Given the description of an element on the screen output the (x, y) to click on. 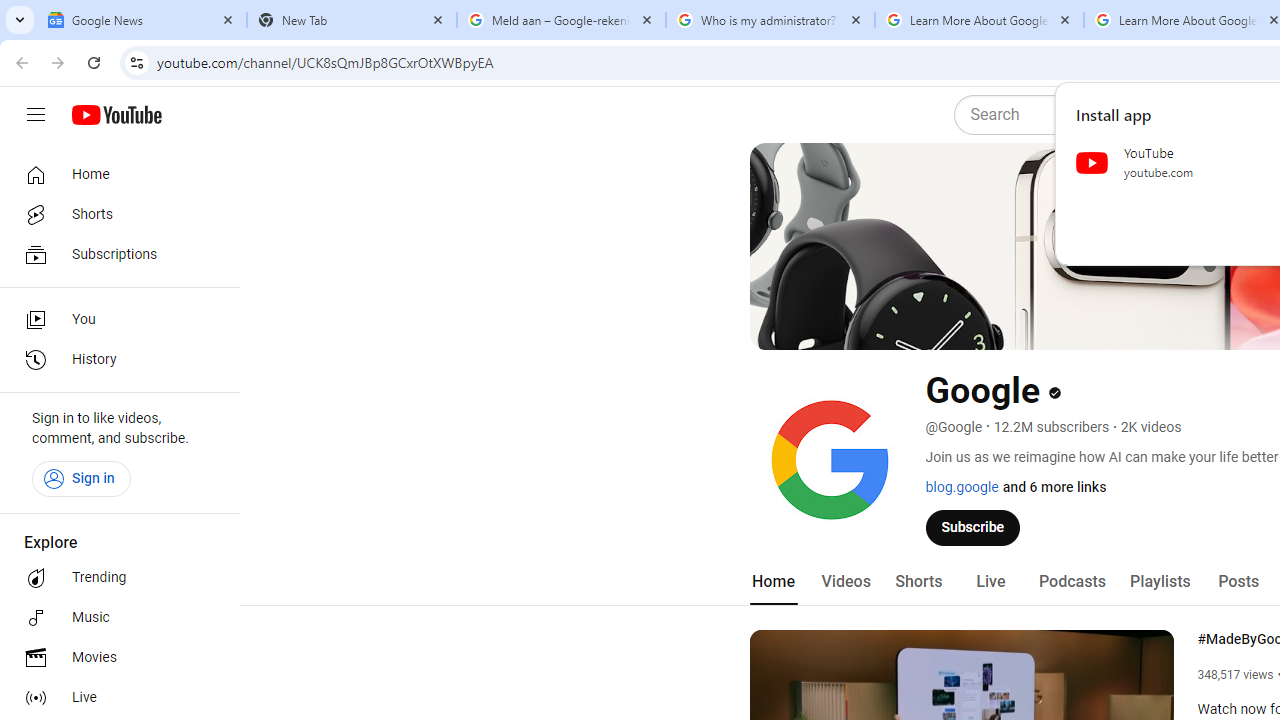
Music (113, 617)
blog.google (961, 487)
New Tab (351, 20)
Subscriptions (113, 254)
Movies (113, 657)
YouTube Home (116, 115)
Videos (845, 581)
Posts (1238, 581)
Podcasts (1072, 581)
Who is my administrator? - Google Account Help (770, 20)
